Given the description of an element on the screen output the (x, y) to click on. 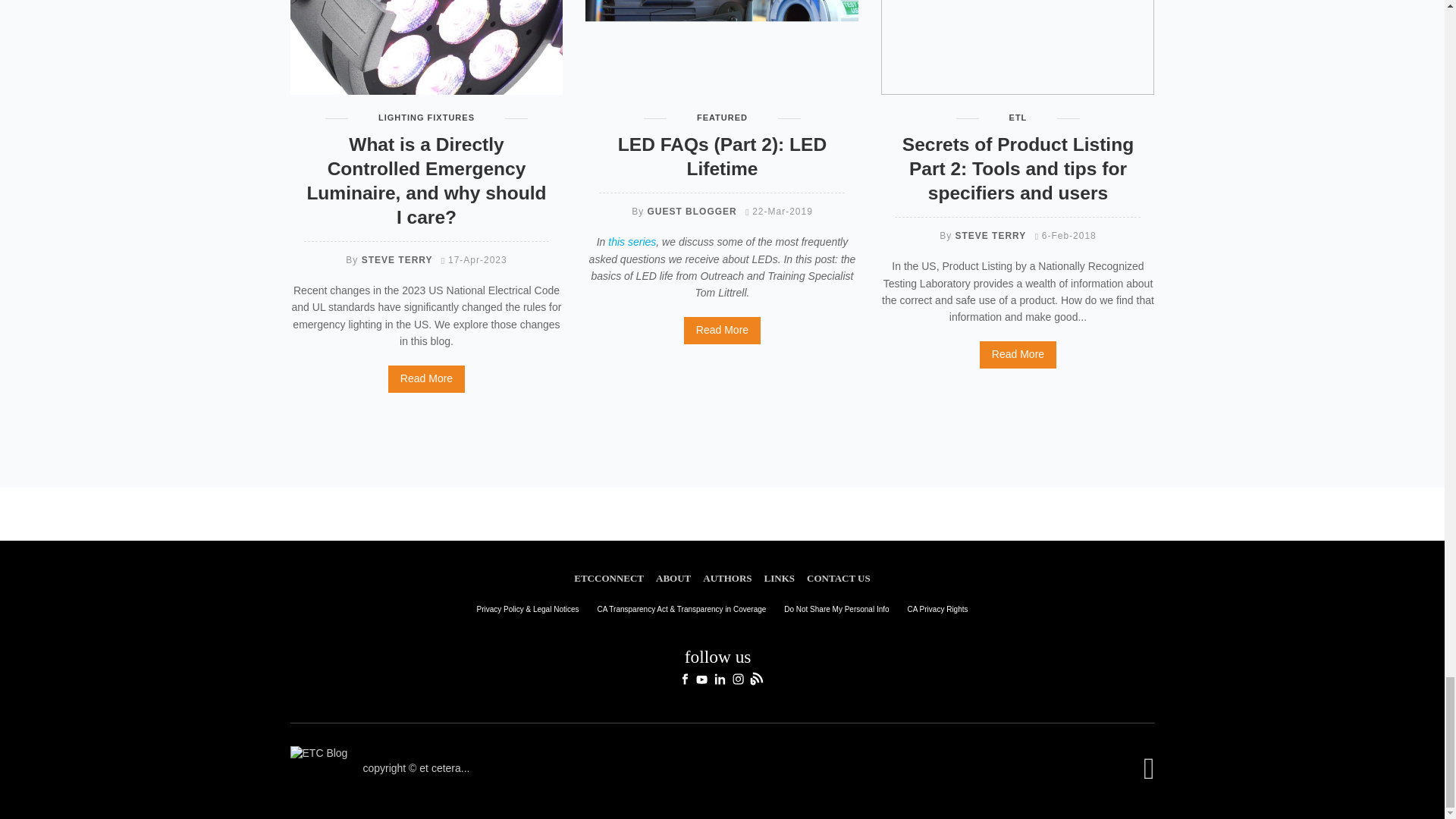
CA Privacy Rights (937, 609)
ETC social networks (721, 665)
6-Feb-2018 (1065, 235)
17-Apr-2023 (473, 259)
Do Not Share My Personal Info (836, 609)
ETC social networks (721, 664)
22-Mar-2019 (778, 211)
